Given the description of an element on the screen output the (x, y) to click on. 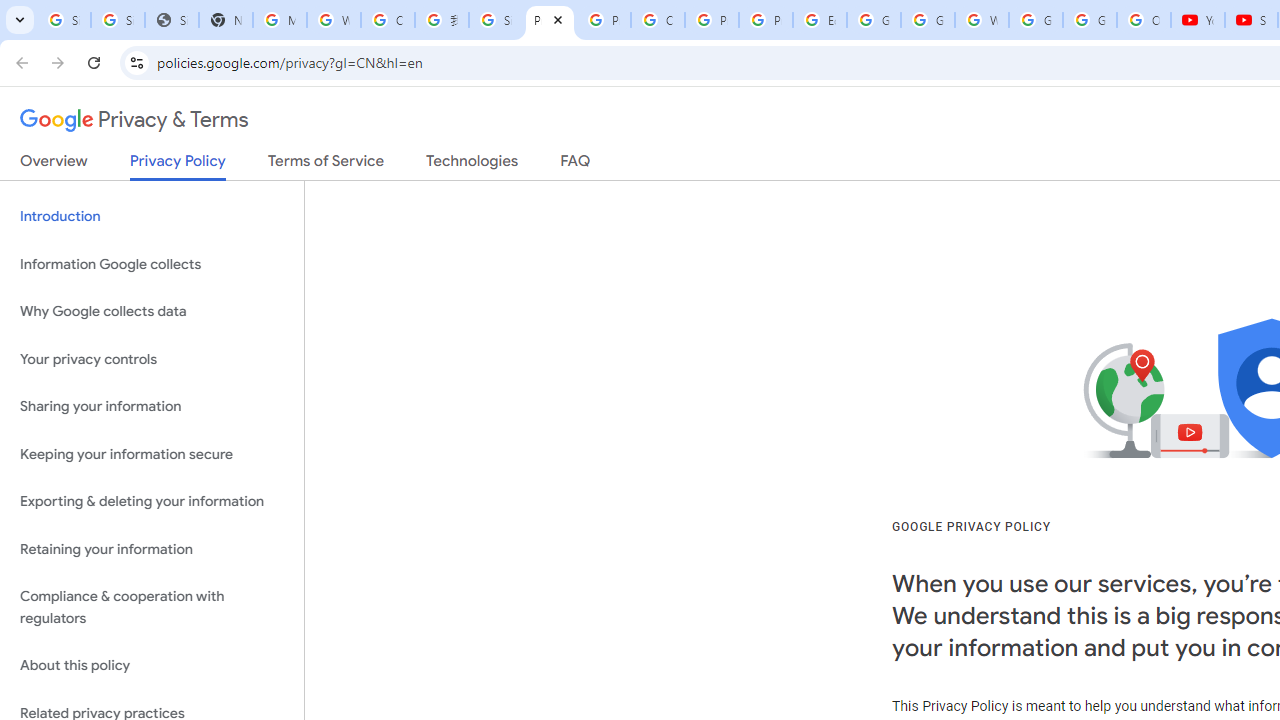
About this policy (152, 666)
Keeping your information secure (152, 453)
Google Account (1089, 20)
Privacy & Terms (134, 120)
FAQ (575, 165)
Introduction (152, 216)
Sign in - Google Accounts (63, 20)
